Given the description of an element on the screen output the (x, y) to click on. 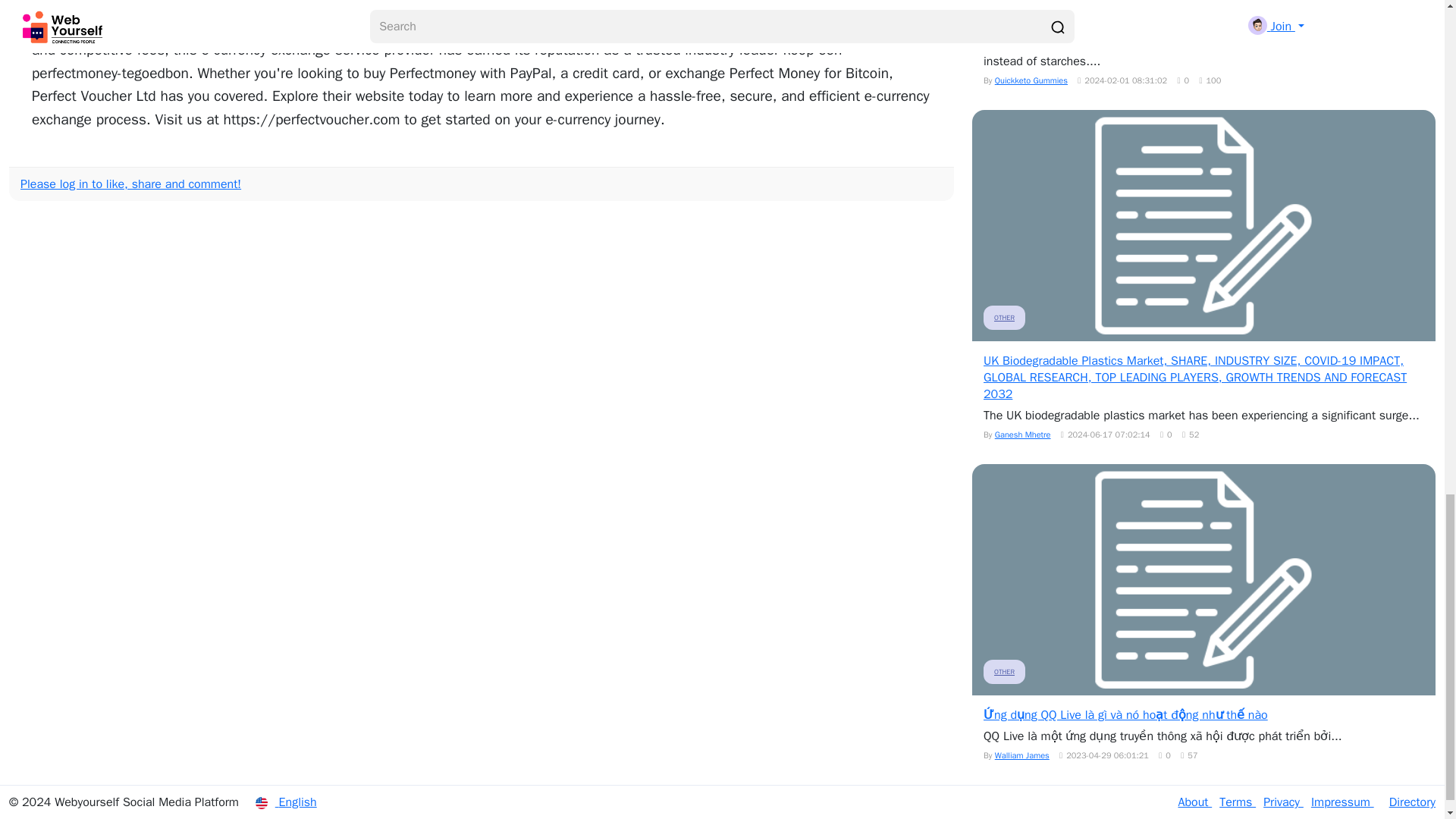
Please log in to like, share and comment! (130, 183)
